Given the description of an element on the screen output the (x, y) to click on. 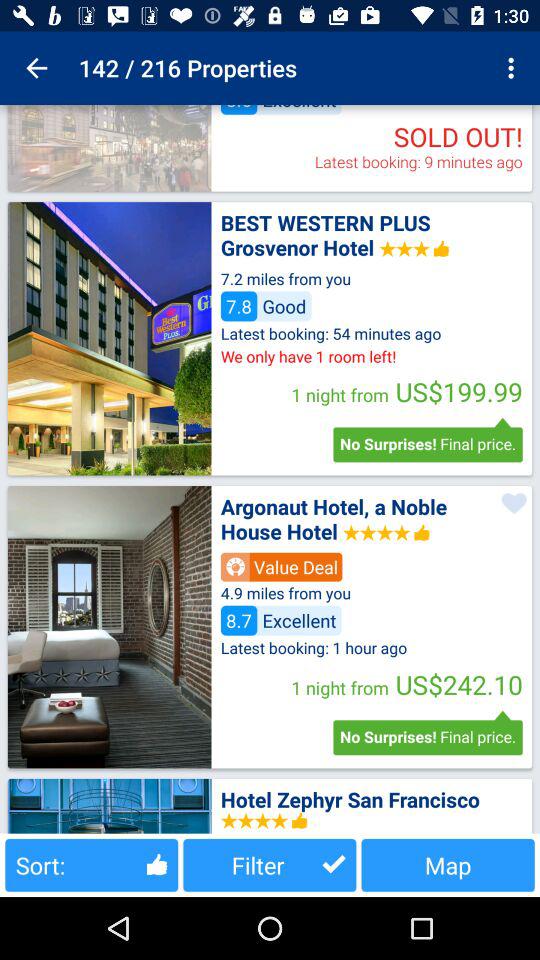
go to hotel (109, 627)
